Given the description of an element on the screen output the (x, y) to click on. 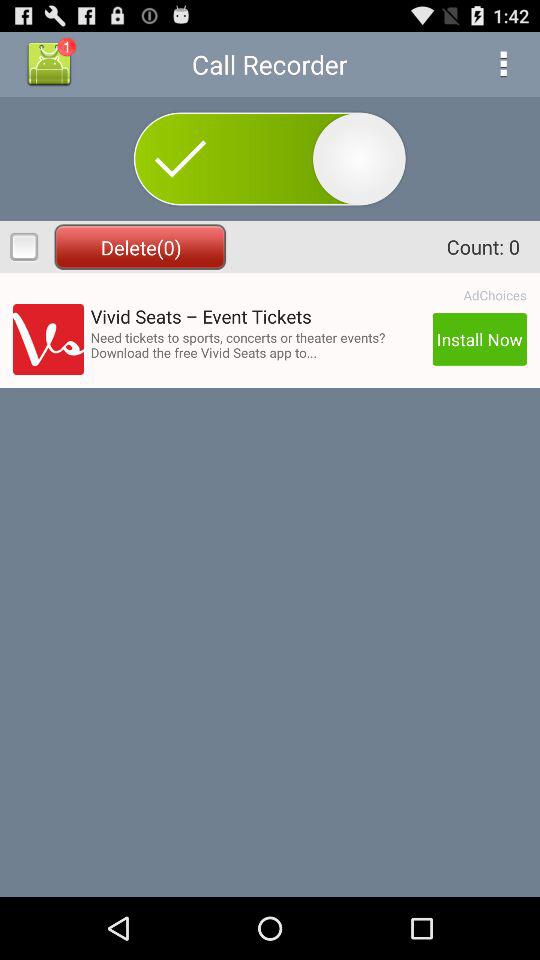
turn on the icon at the center (257, 344)
